Given the description of an element on the screen output the (x, y) to click on. 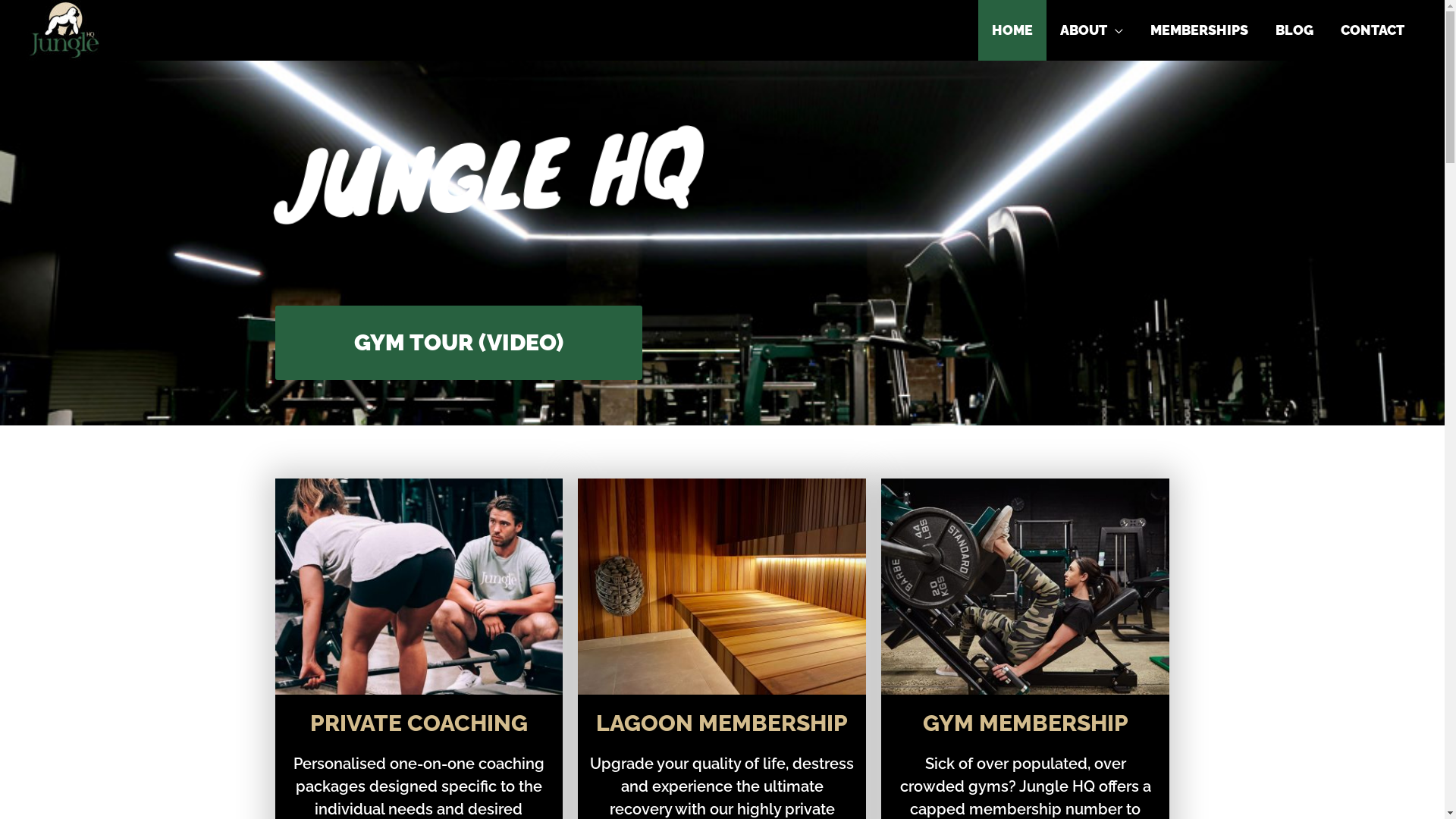
HOME Element type: text (1012, 30)
Private Coaching Image Element type: hover (418, 586)
BLOG Element type: text (1294, 30)
Lagoon-Jungle-HQ Element type: hover (721, 586)
ABOUT Element type: text (1091, 30)
CONTACT Element type: text (1372, 30)
MEMBERSHIPS Element type: text (1198, 30)
GYM TOUR (VIDEO) Element type: text (457, 342)
